Given the description of an element on the screen output the (x, y) to click on. 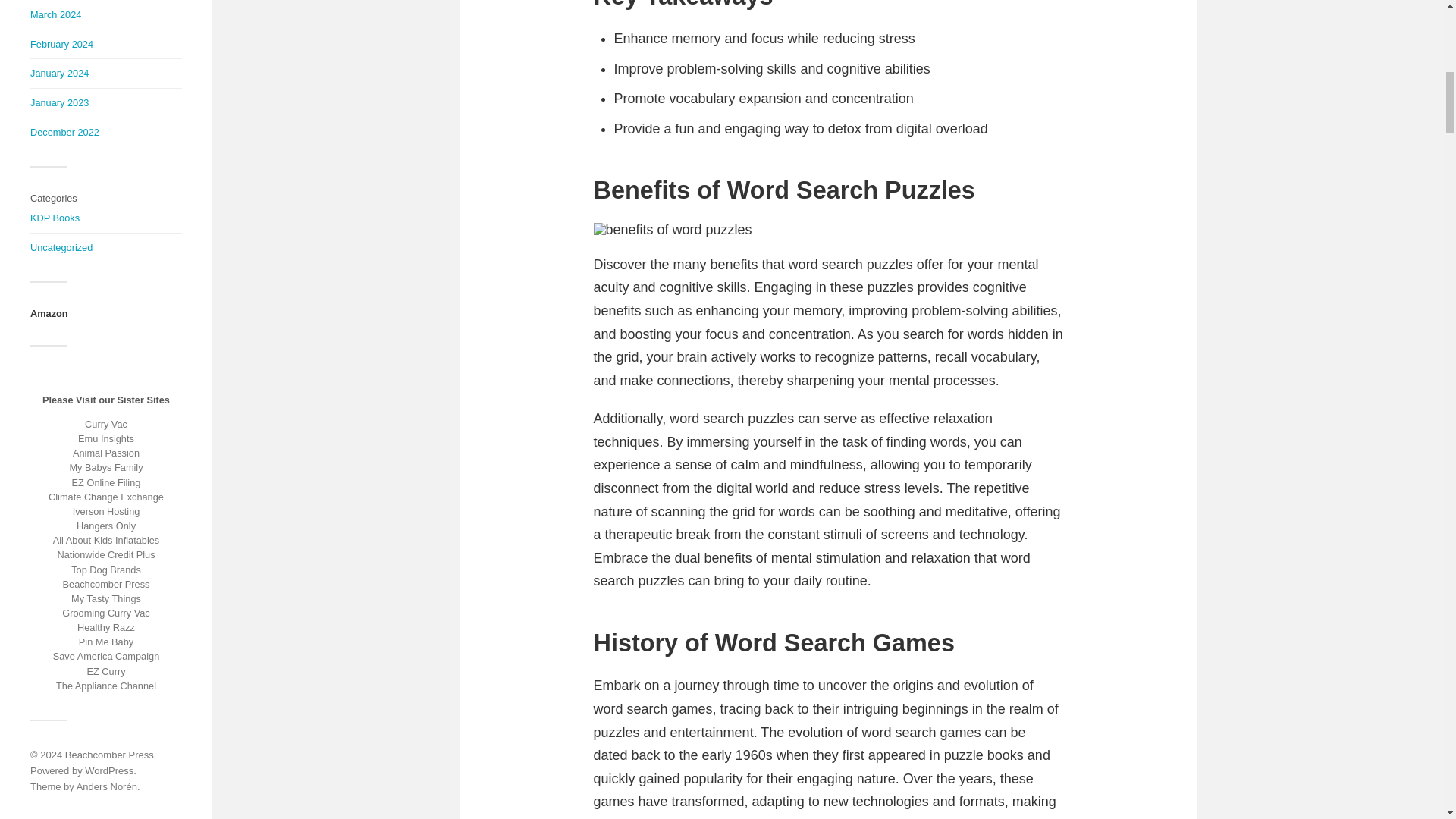
March 2024 (55, 14)
My Tasty Things (106, 598)
Beachcomber Press (105, 583)
Nationwide Credit Plus (105, 554)
February 2024 (61, 43)
January 2024 (59, 72)
Iverson Hosting (105, 511)
December 2022 (64, 132)
Curry Vac (106, 423)
My Babys Family (105, 467)
